Given the description of an element on the screen output the (x, y) to click on. 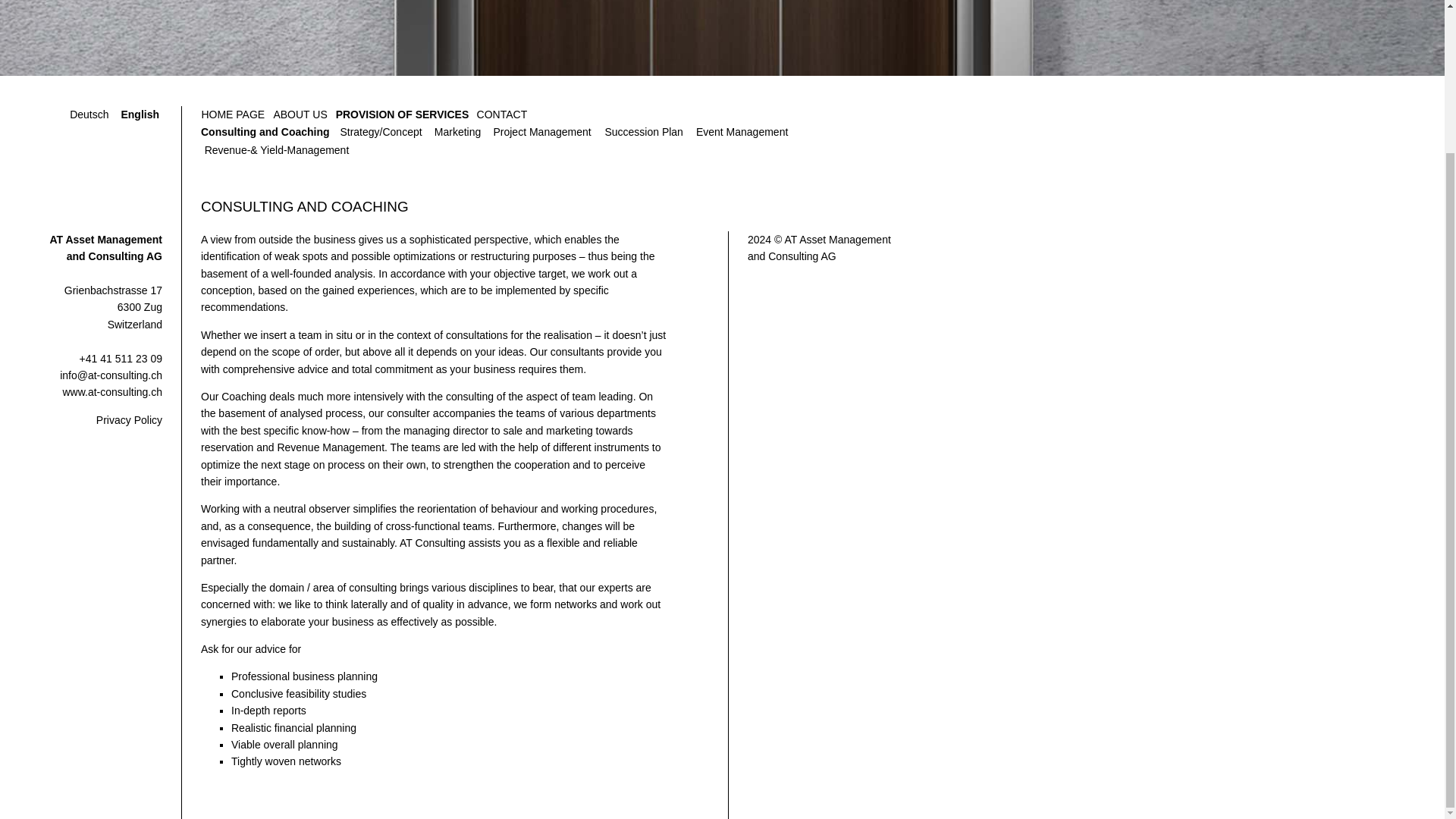
Provision of services (402, 114)
www.at-consulting.ch (111, 391)
Privacy Policy (128, 419)
Contact (501, 114)
Marketing (456, 131)
HOME PAGE (232, 114)
Deutsch (89, 114)
Home Page (232, 114)
ABOUT US (301, 114)
Event Management (742, 131)
Consulting and Coaching (265, 131)
Project Management (542, 131)
About us (301, 114)
